Given the description of an element on the screen output the (x, y) to click on. 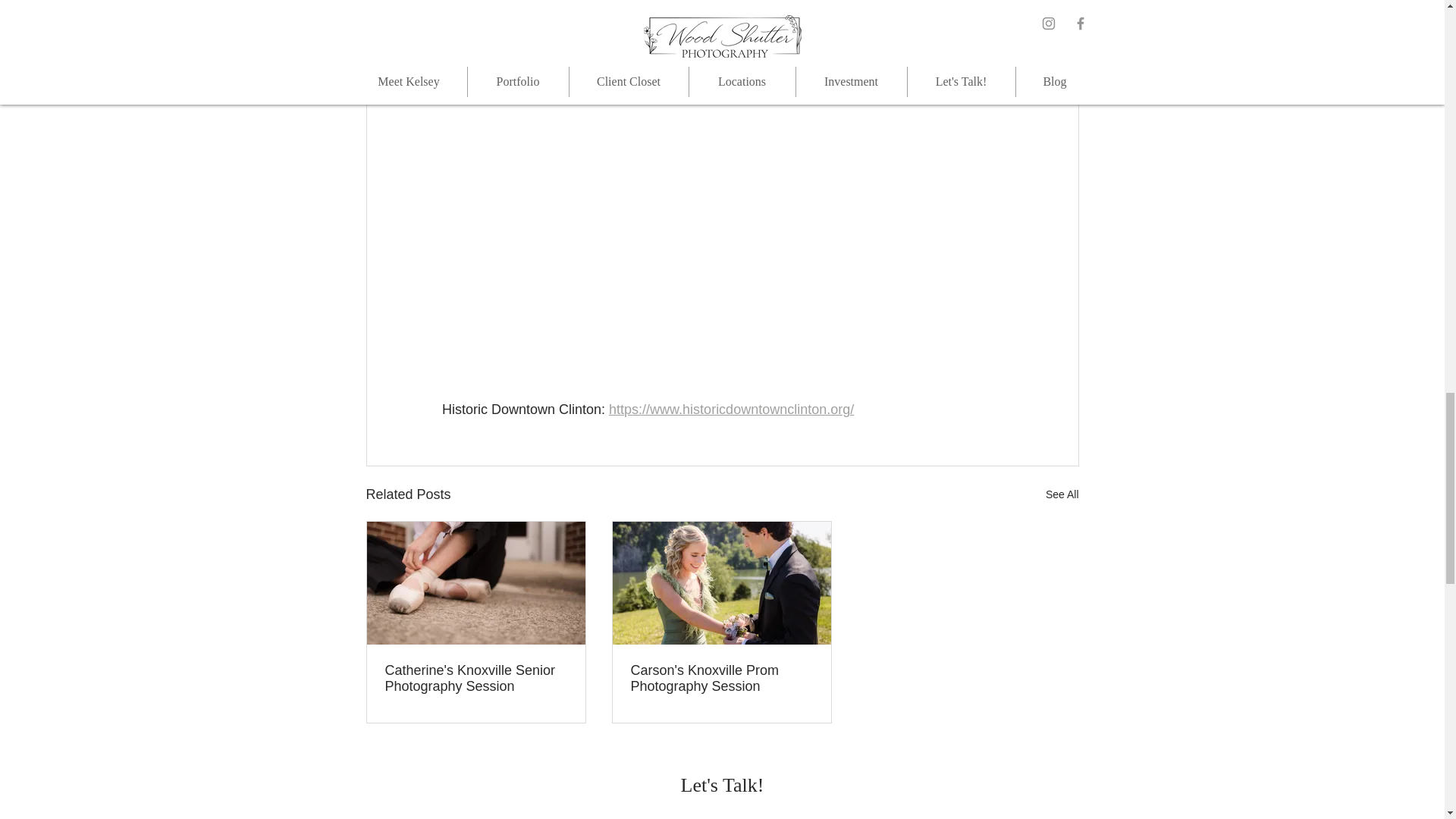
Catherine's Knoxville Senior Photography Session (476, 678)
See All (1061, 495)
Carson's Knoxville Prom Photography Session (721, 678)
